Given the description of an element on the screen output the (x, y) to click on. 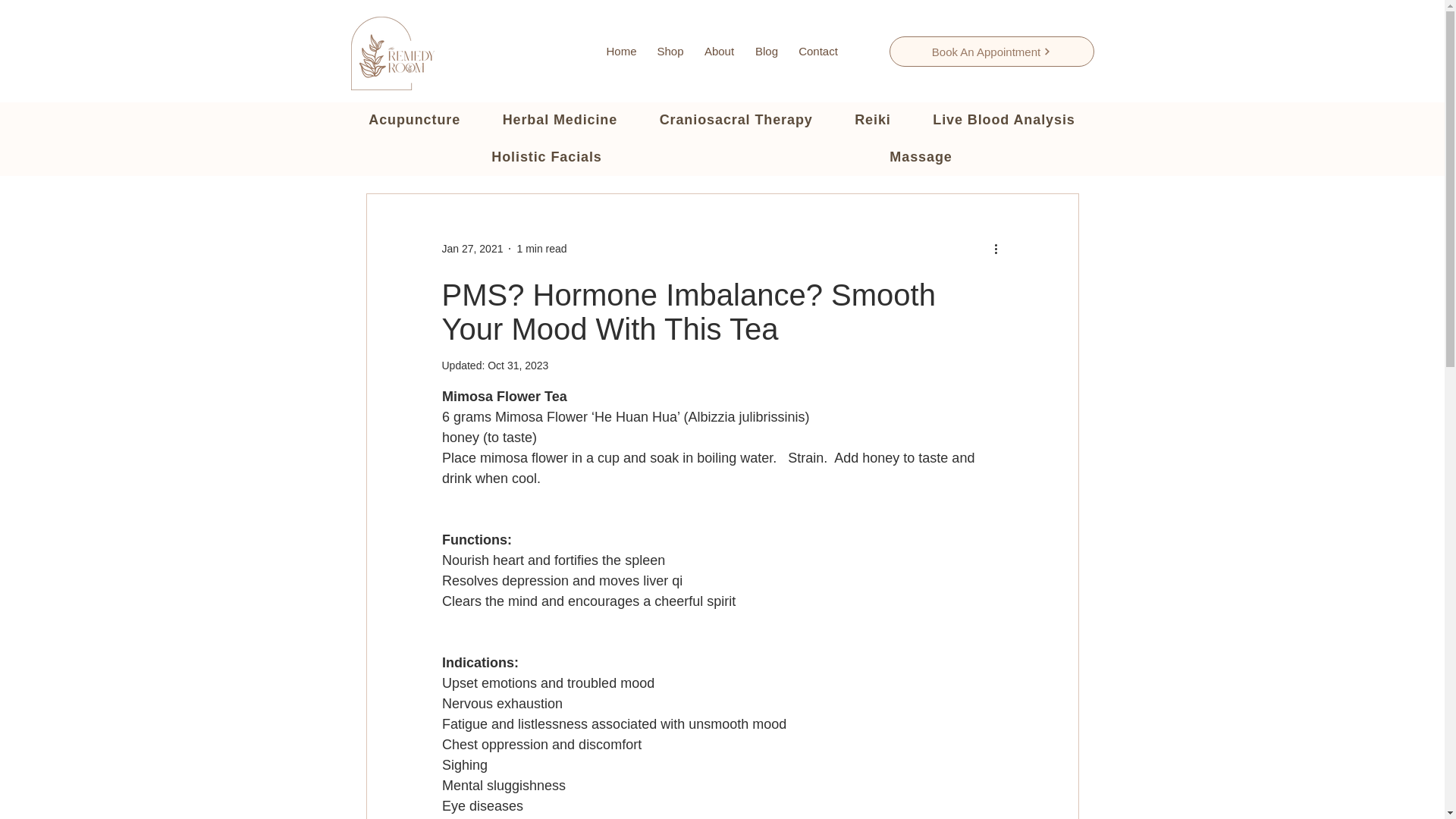
Massage (921, 156)
Live Blood Analysis (1003, 119)
Contact (818, 51)
1 min read (541, 248)
Herbal Medicine (559, 119)
Jan 27, 2021 (471, 248)
Holistic Facials (546, 156)
Oct 31, 2023 (517, 365)
Blog (765, 51)
Shop (670, 51)
